Given the description of an element on the screen output the (x, y) to click on. 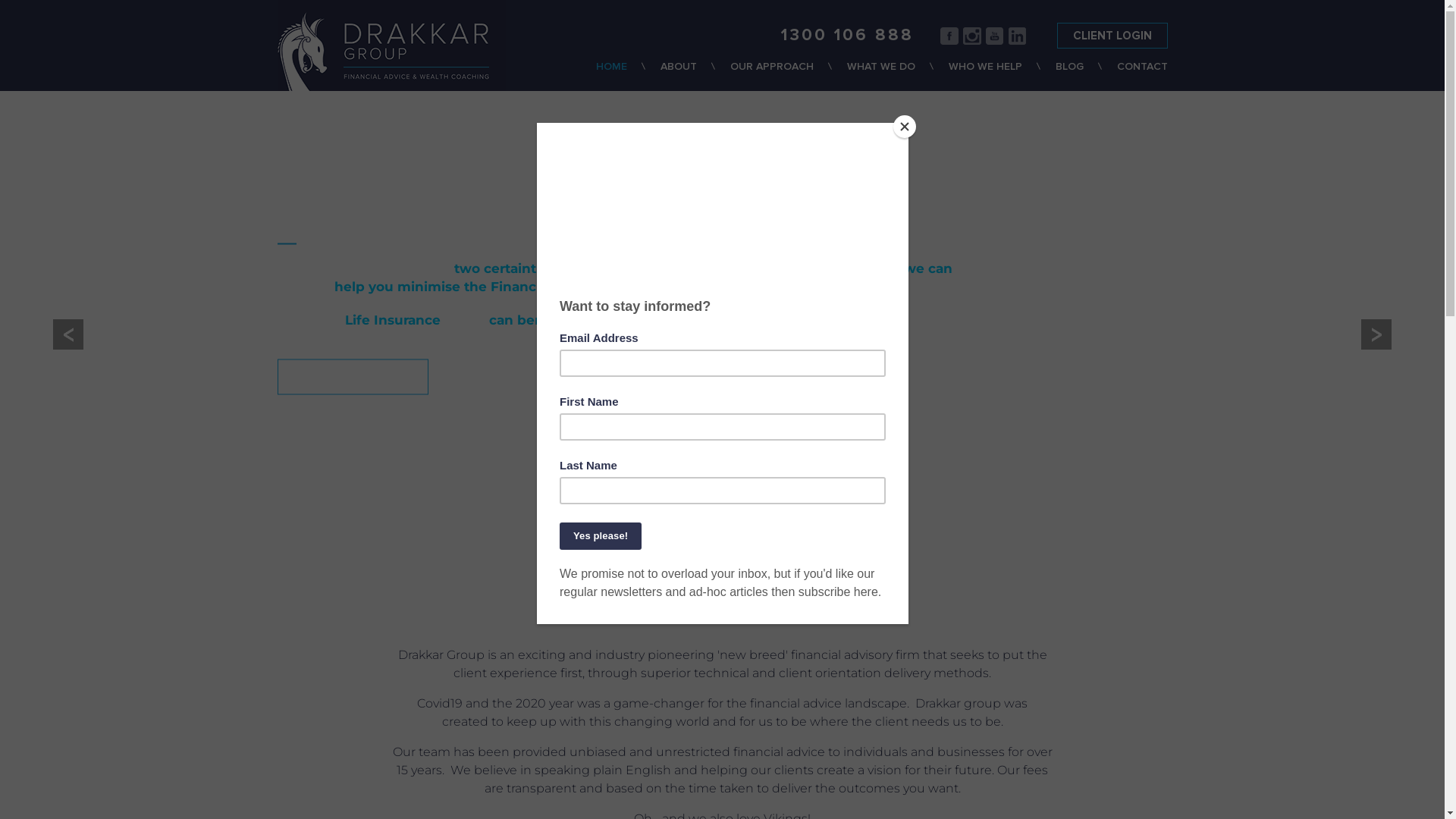
BLOG Element type: text (1086, 75)
CONTACT Element type: text (1141, 75)
OUR APPROACH Element type: text (787, 75)
WHAT WE DO Element type: text (896, 75)
FIND OUT MORE Element type: text (352, 393)
WHO WE HELP Element type: text (1000, 75)
CLIENT LOGIN Element type: text (1112, 35)
ABOUT Element type: text (694, 75)
HOME Element type: text (628, 75)
